Given the description of an element on the screen output the (x, y) to click on. 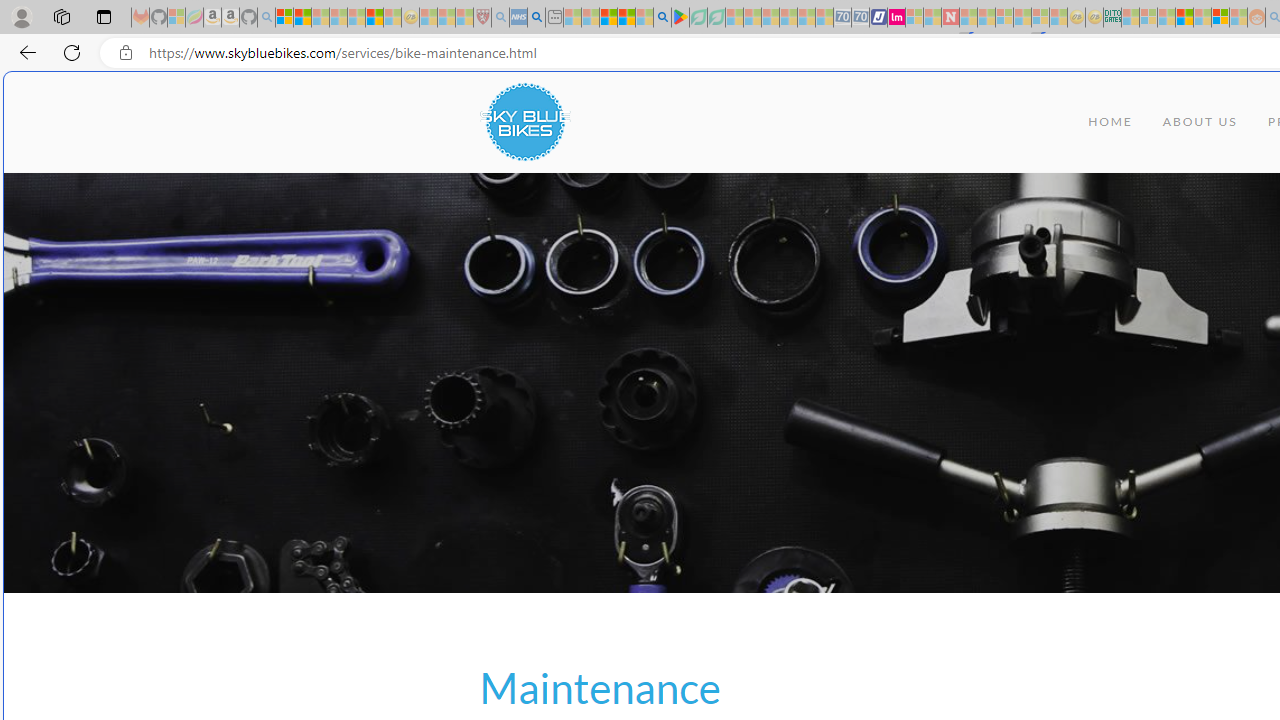
Microsoft account | Privacy (284, 17)
Bluey: Let's Play! - Apps on Google Play (680, 17)
Class: uk-navbar-item uk-logo (524, 122)
Expert Portfolios (1184, 17)
New Report Confirms 2023 Was Record Hot | Watch - Sleeping (356, 17)
Microsoft Start (608, 17)
HOME (1110, 122)
